Given the description of an element on the screen output the (x, y) to click on. 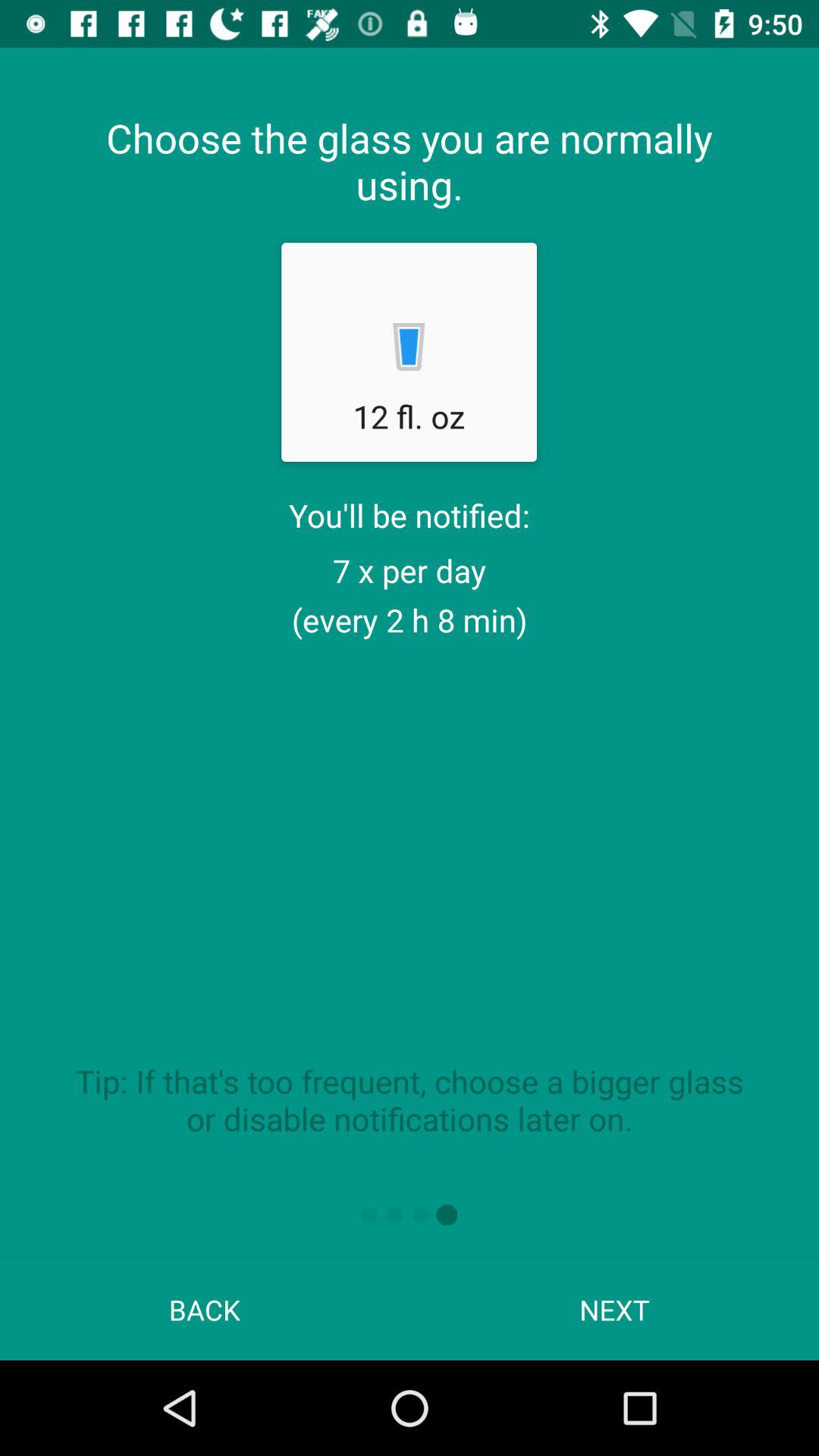
select the app to the right of the back icon (614, 1309)
